Given the description of an element on the screen output the (x, y) to click on. 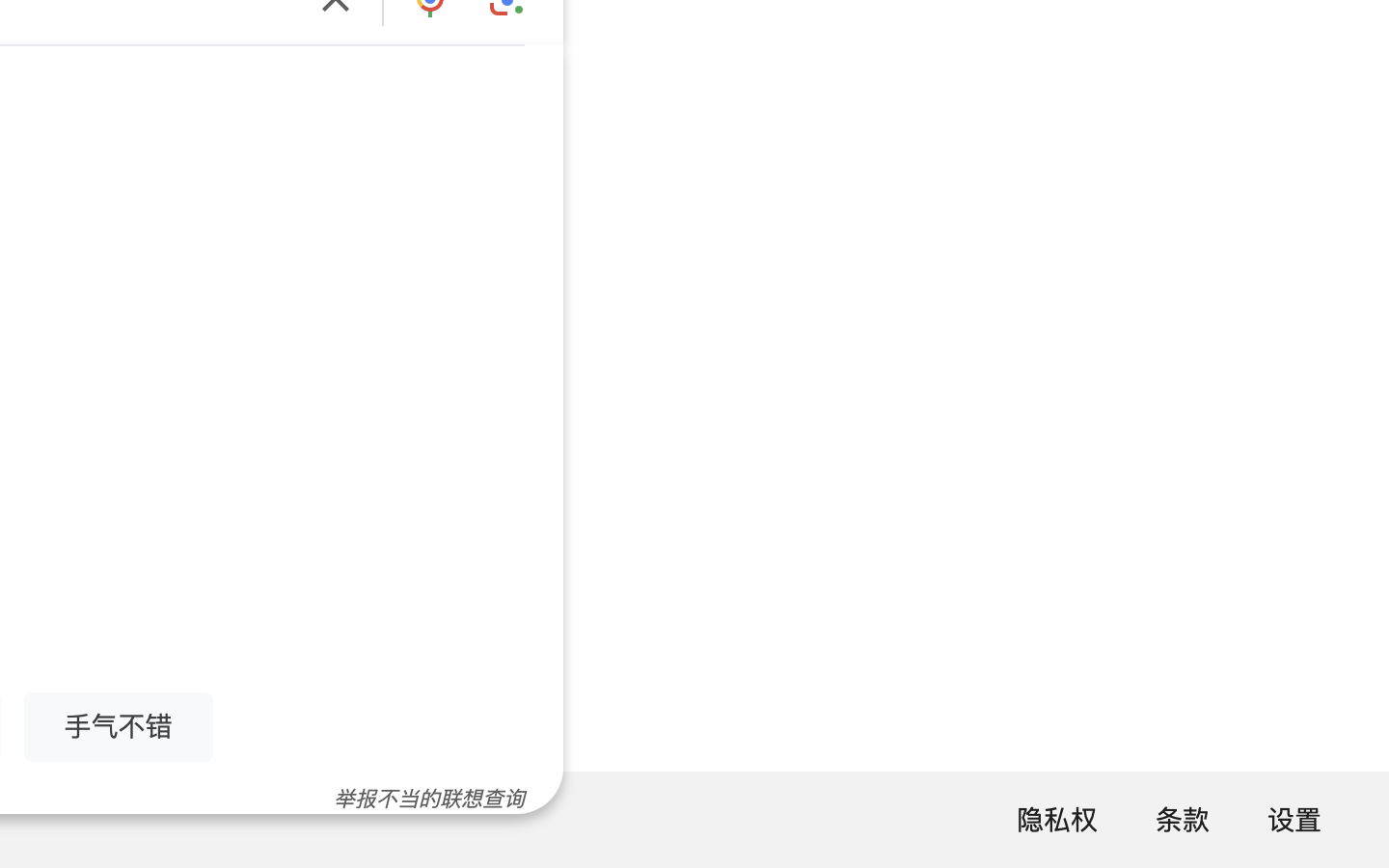
条款 Element type: AXStaticText (1182, 819)
隐私权 Element type: AXStaticText (1056, 819)
